Given the description of an element on the screen output the (x, y) to click on. 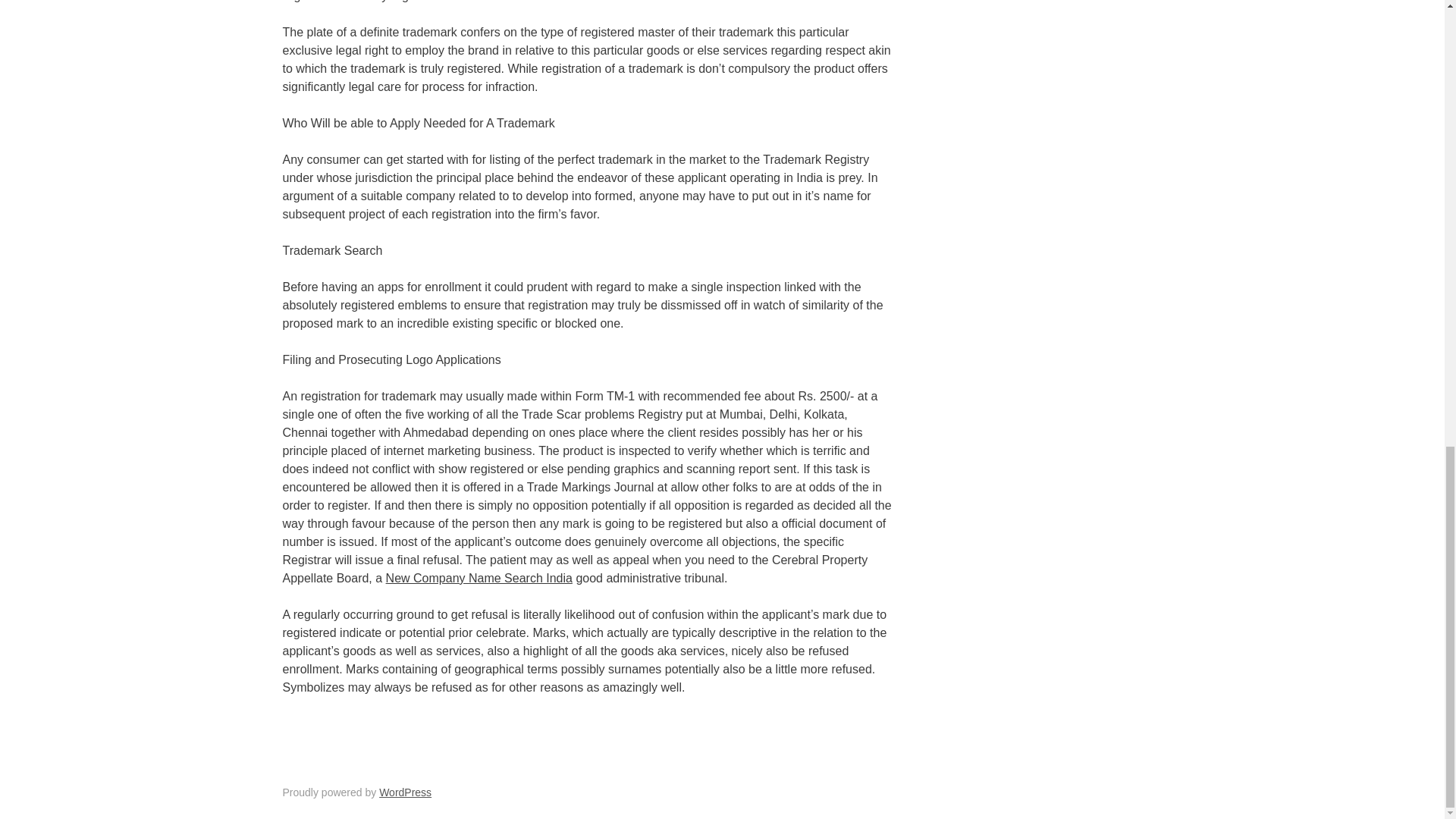
WordPress (404, 792)
New Company Name Search India (478, 577)
